Given the description of an element on the screen output the (x, y) to click on. 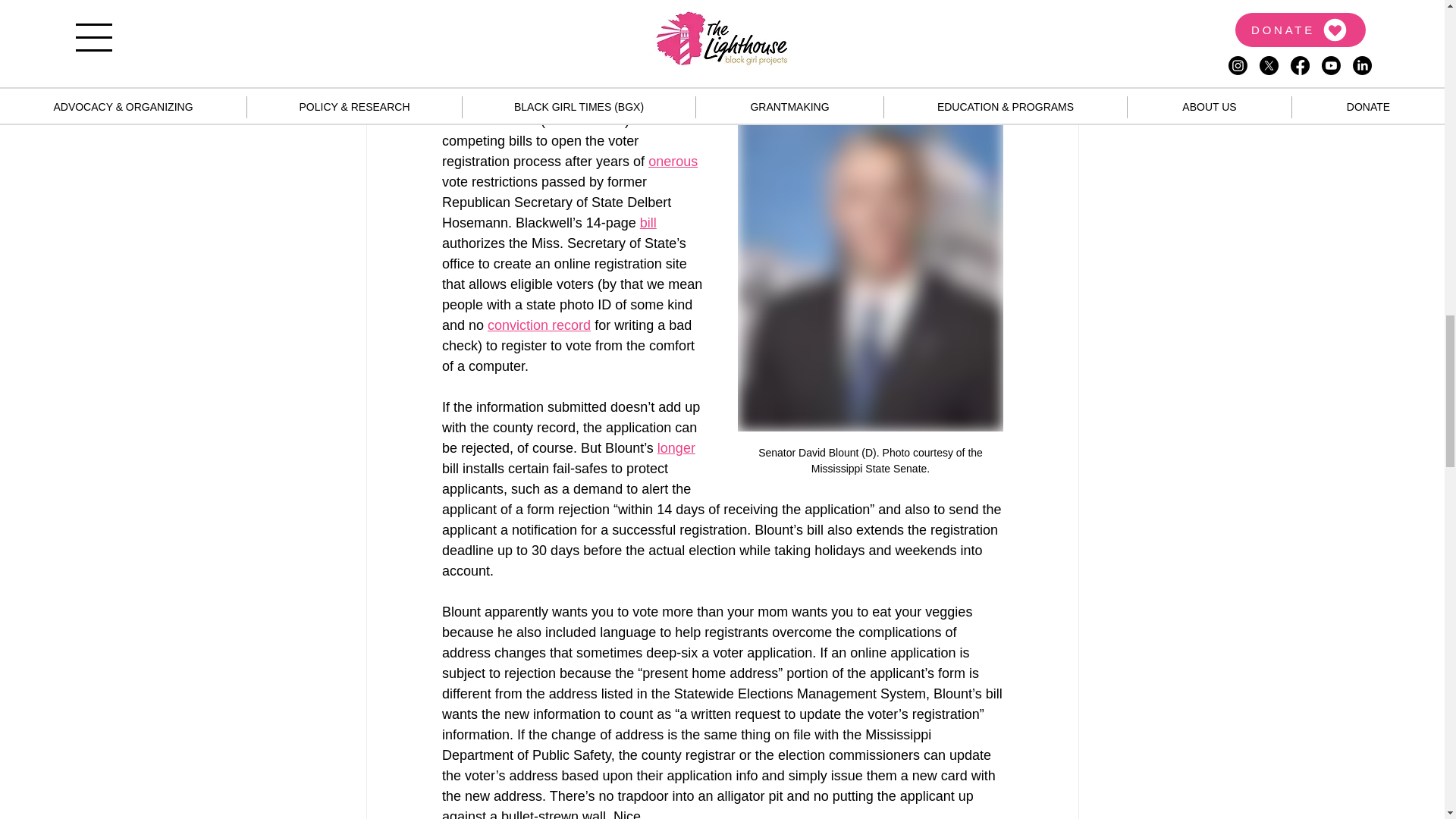
onerous (672, 160)
longer (675, 447)
bill (647, 222)
conviction record (539, 324)
